Given the description of an element on the screen output the (x, y) to click on. 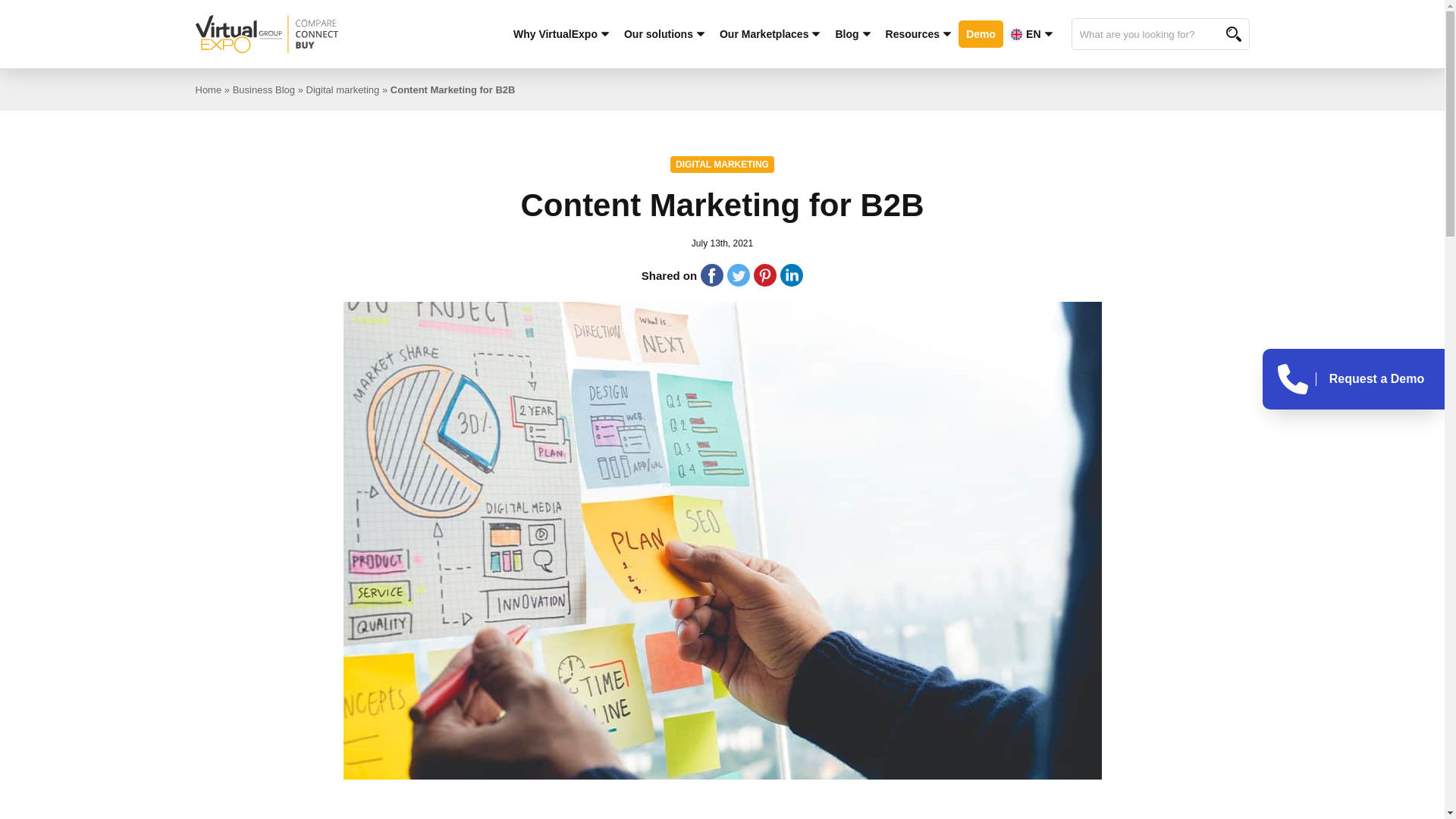
Business Blog (263, 89)
Our Marketplaces (769, 34)
Shared on Linkedin (791, 274)
Shared on Pinterest (765, 274)
Our solutions (663, 34)
Resources (918, 34)
Business VirtualExpo (305, 34)
Shared on Facebook (711, 274)
Digital marketing (721, 164)
Why VirtualExpo (560, 34)
Shared on Twitter (737, 274)
Demo (980, 33)
Home (208, 89)
